Given the description of an element on the screen output the (x, y) to click on. 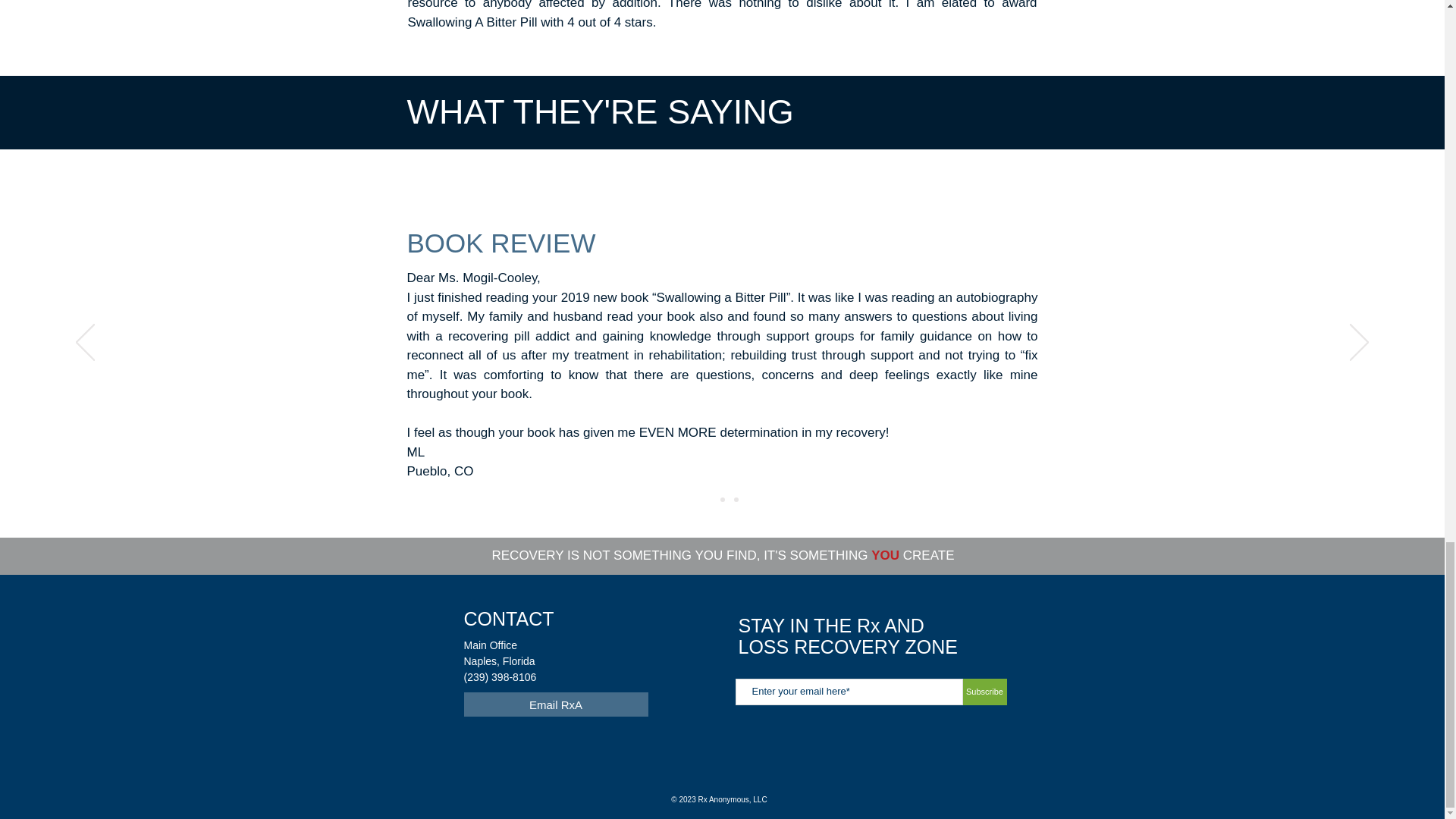
Email RxA (555, 704)
Subscribe (984, 691)
